Given the description of an element on the screen output the (x, y) to click on. 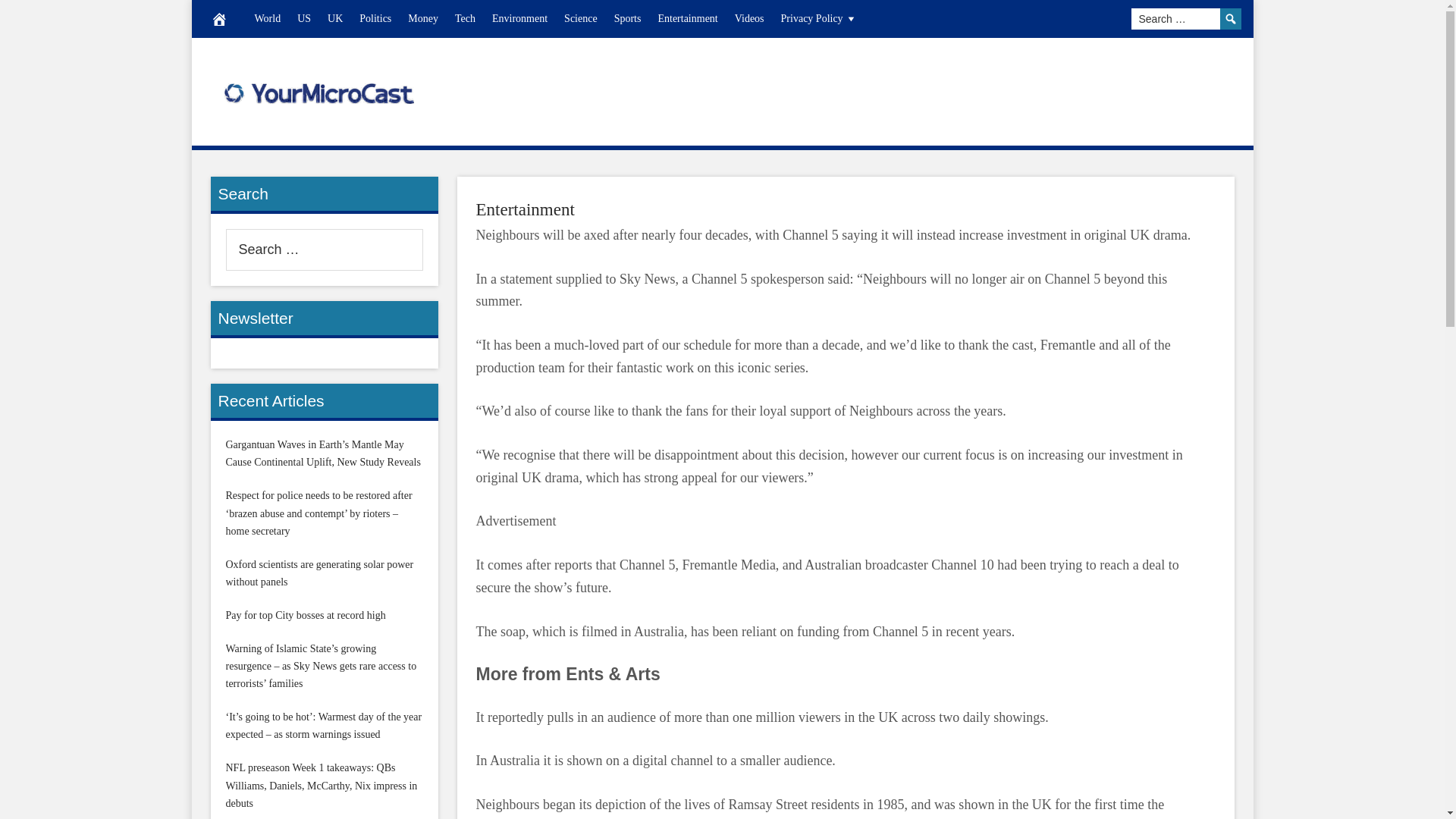
Environment (519, 18)
Science (580, 18)
Entertainment (525, 209)
Politics (374, 18)
Sports (627, 18)
Videos (749, 18)
World (267, 18)
Money (422, 18)
